Given the description of an element on the screen output the (x, y) to click on. 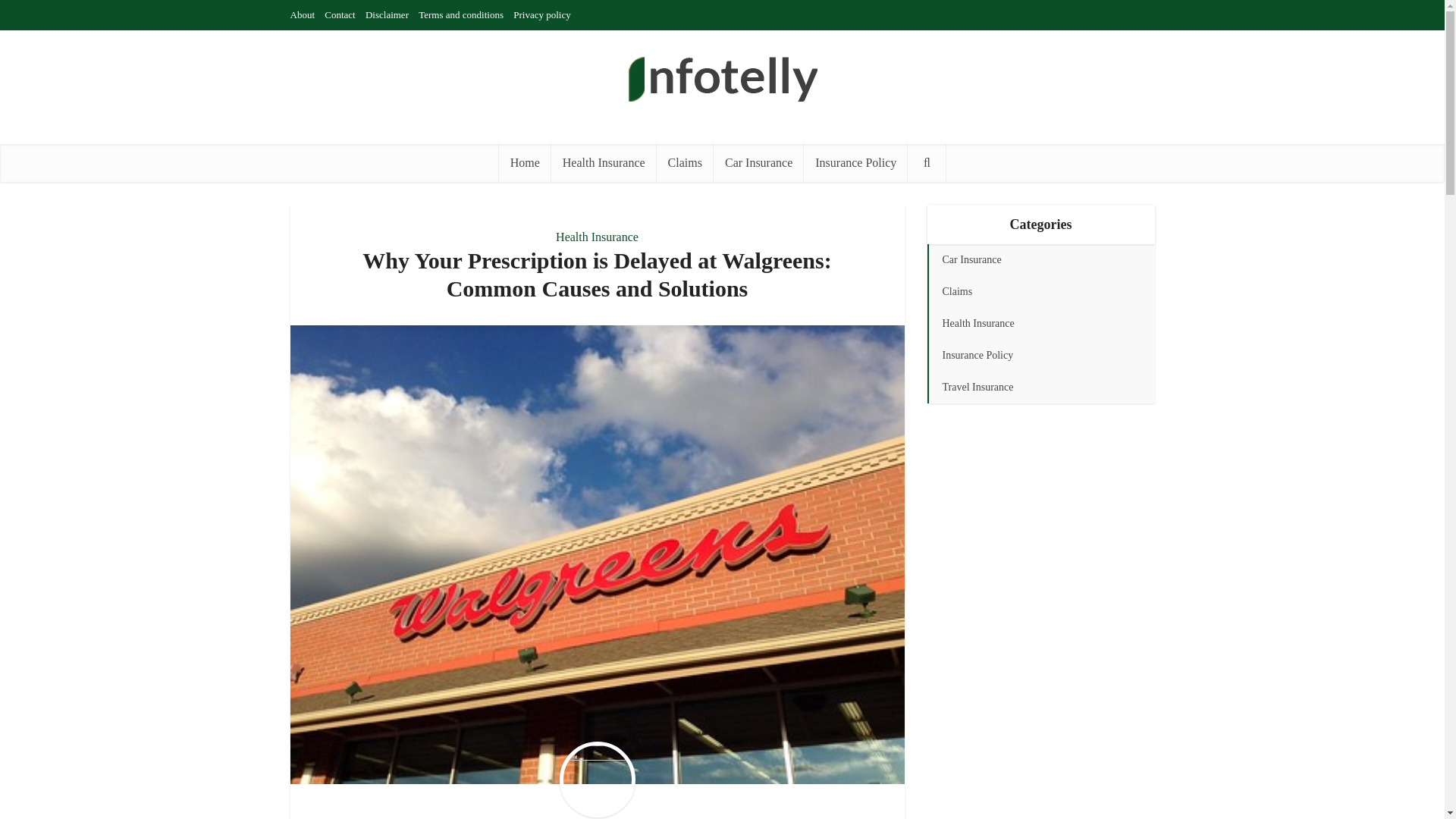
Terms and conditions (461, 14)
Car Insurance (758, 162)
About (301, 14)
Insurance Policy (855, 162)
Health Insurance (603, 162)
Contact (339, 14)
Privacy policy (541, 14)
Health Insurance (597, 236)
Claims (684, 162)
Disclaimer (387, 14)
